Given the description of an element on the screen output the (x, y) to click on. 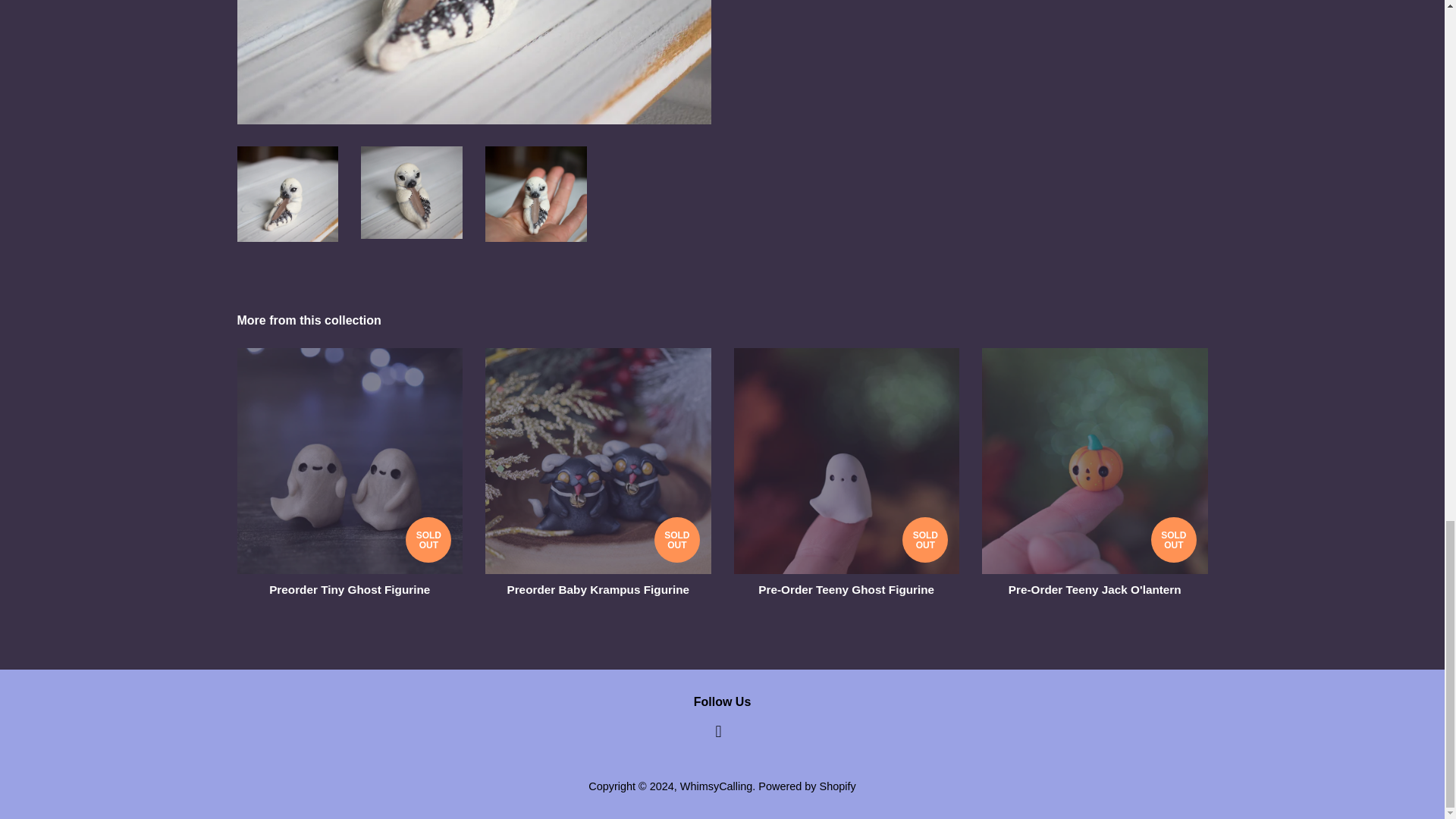
Powered by Shopify (807, 786)
WhimsyCalling (715, 786)
